Given the description of an element on the screen output the (x, y) to click on. 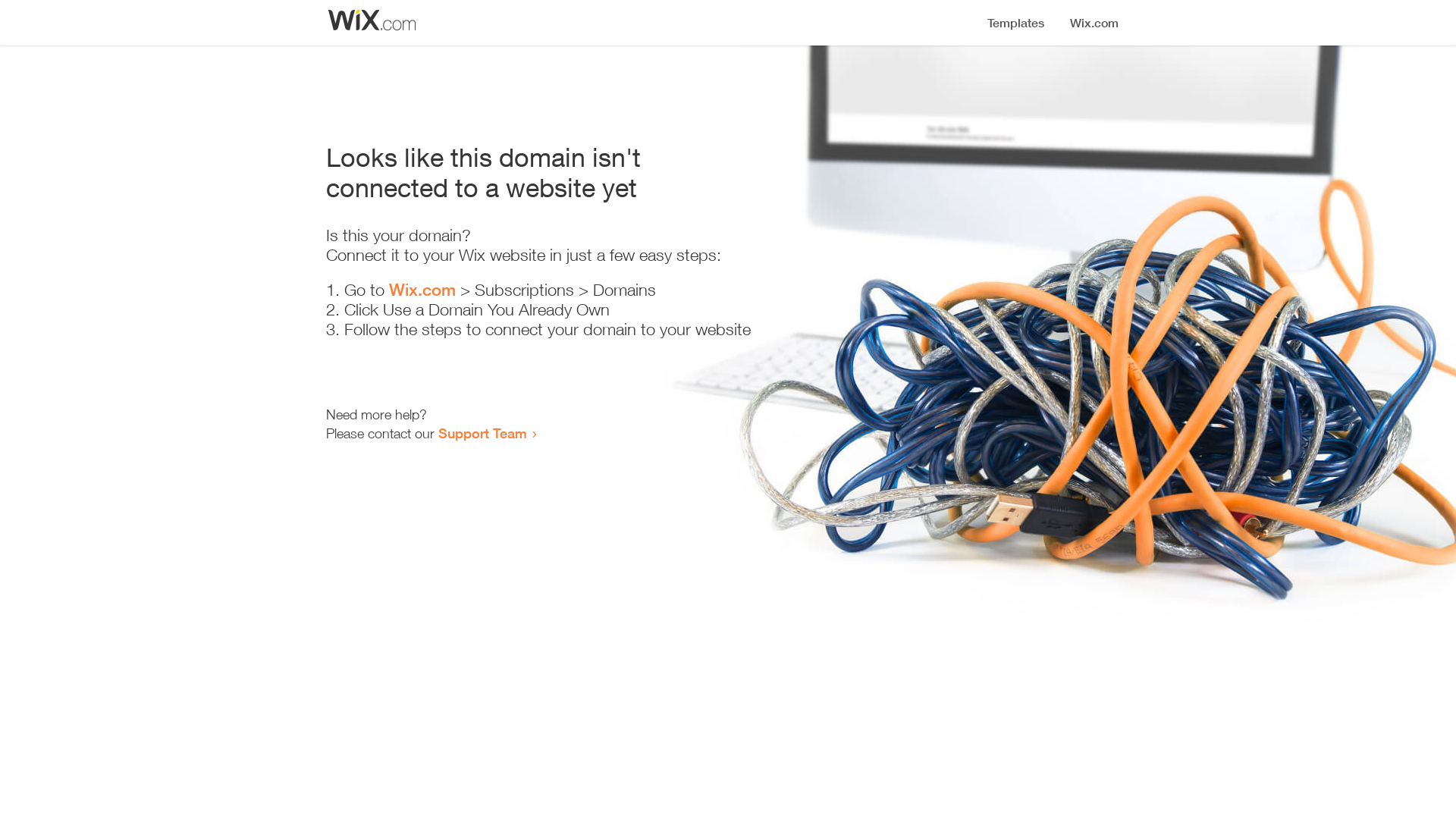
Wix.com Element type: text (422, 289)
Support Team Element type: text (482, 432)
